Given the description of an element on the screen output the (x, y) to click on. 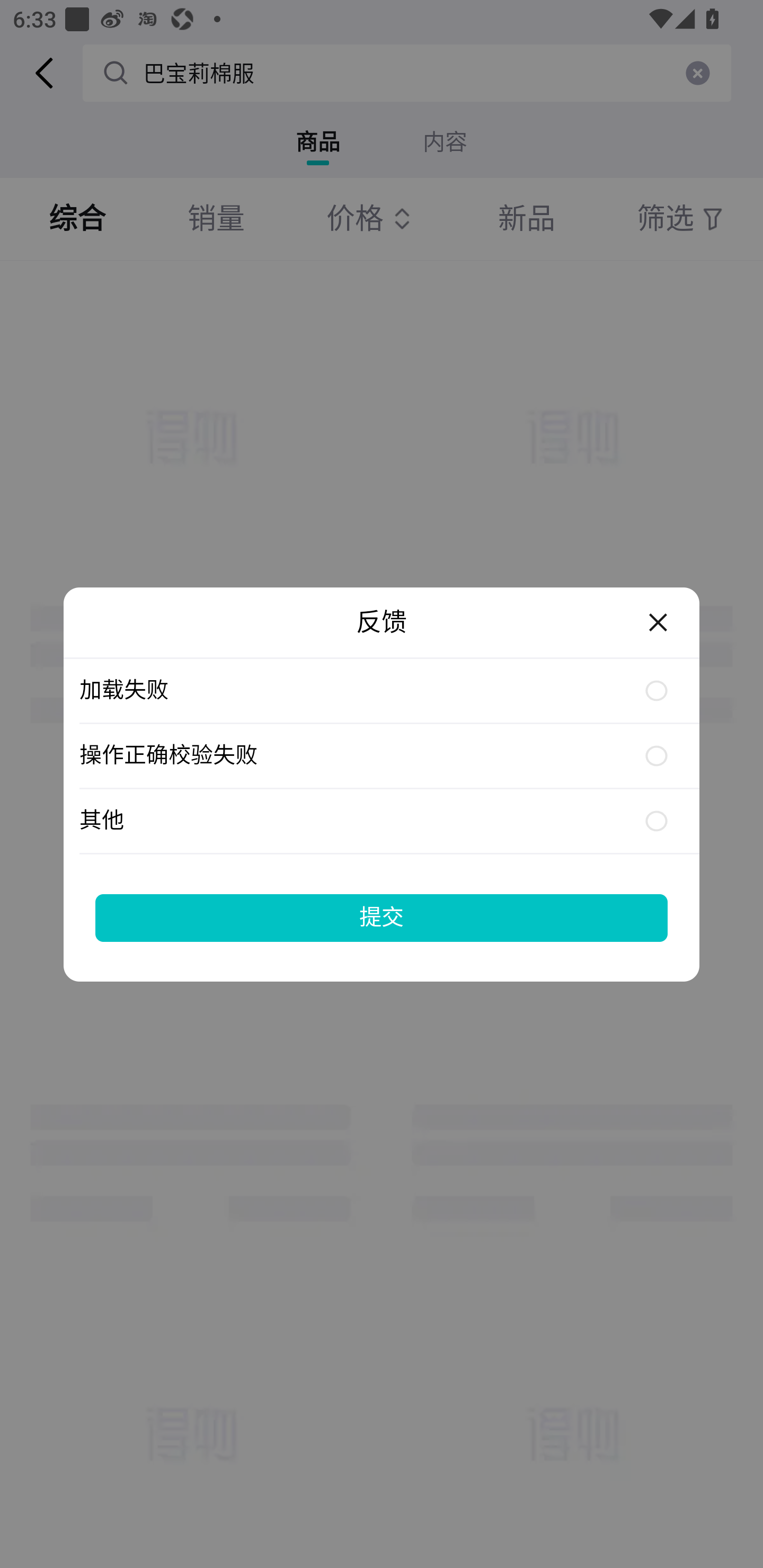
提交 (381, 917)
